Given the description of an element on the screen output the (x, y) to click on. 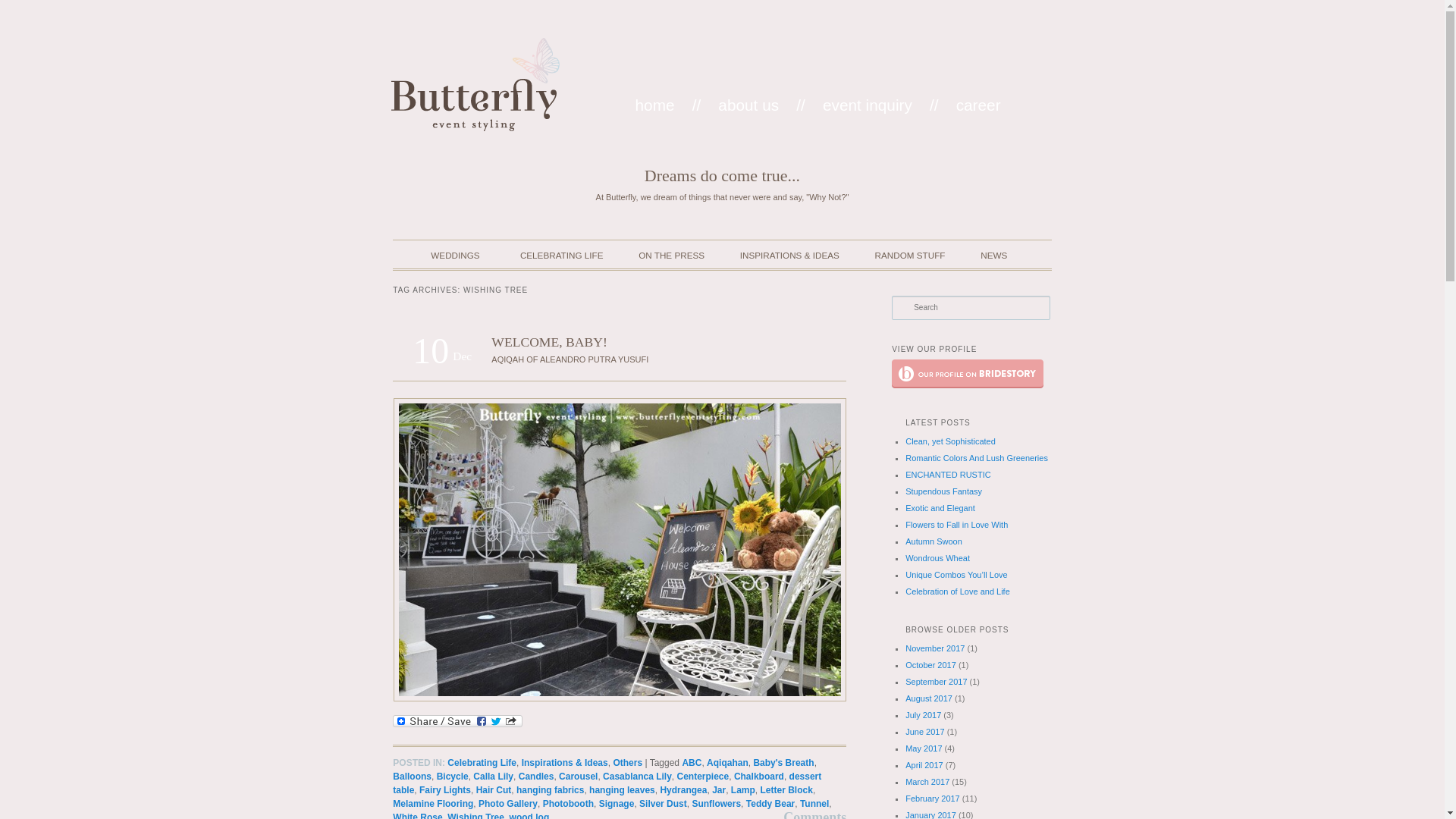
Balloons (411, 776)
WELCOME, BABY! (549, 341)
       WEDDINGS (446, 260)
ABC (691, 762)
RANDOM STUFF (909, 260)
Permalink to Welcome, Baby! (549, 341)
Casablanca Lily (636, 776)
Aqiqahan (727, 762)
ON THE PRESS (671, 260)
